Given the description of an element on the screen output the (x, y) to click on. 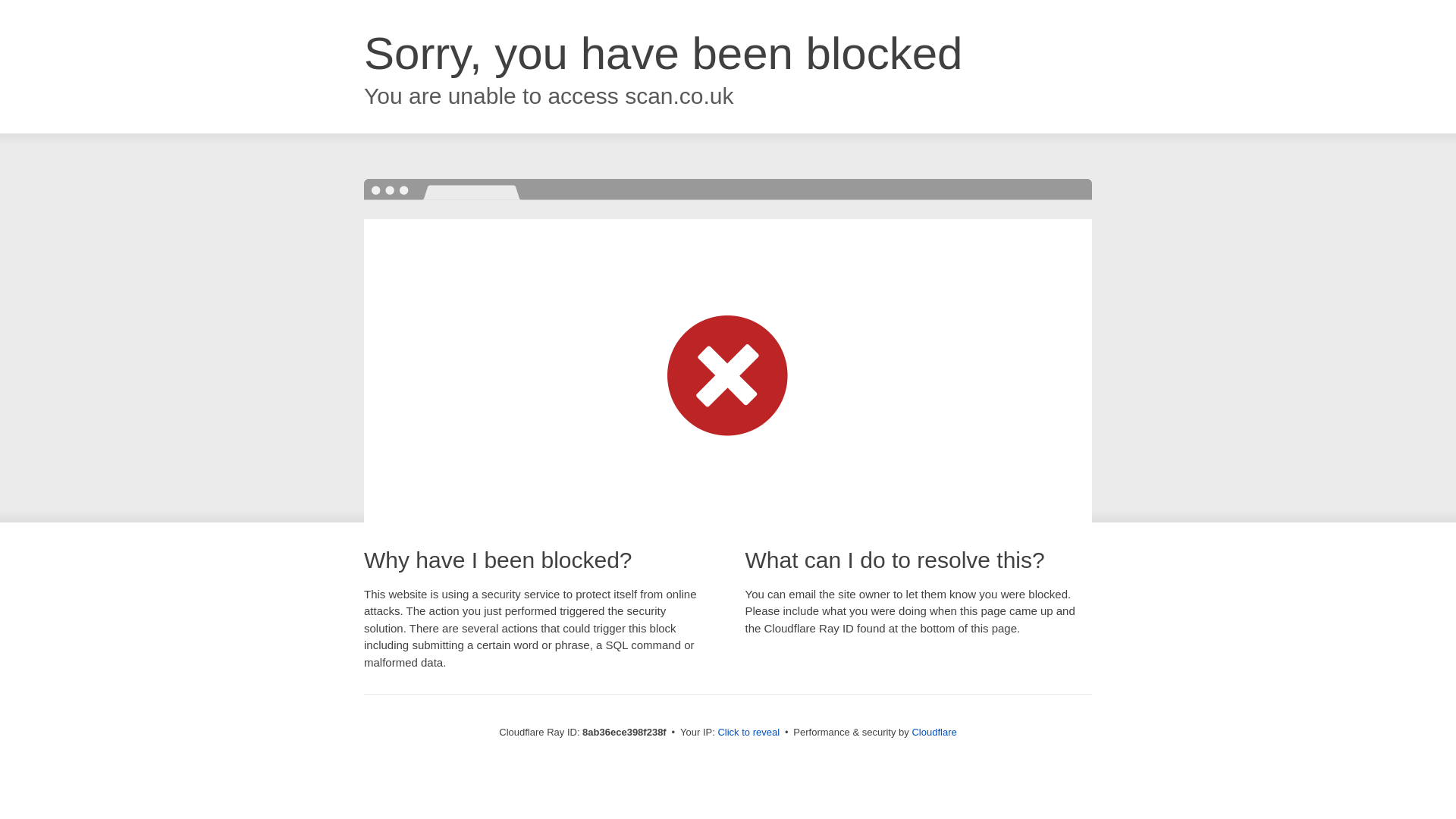
Click to reveal (747, 732)
Cloudflare (933, 731)
